Given the description of an element on the screen output the (x, y) to click on. 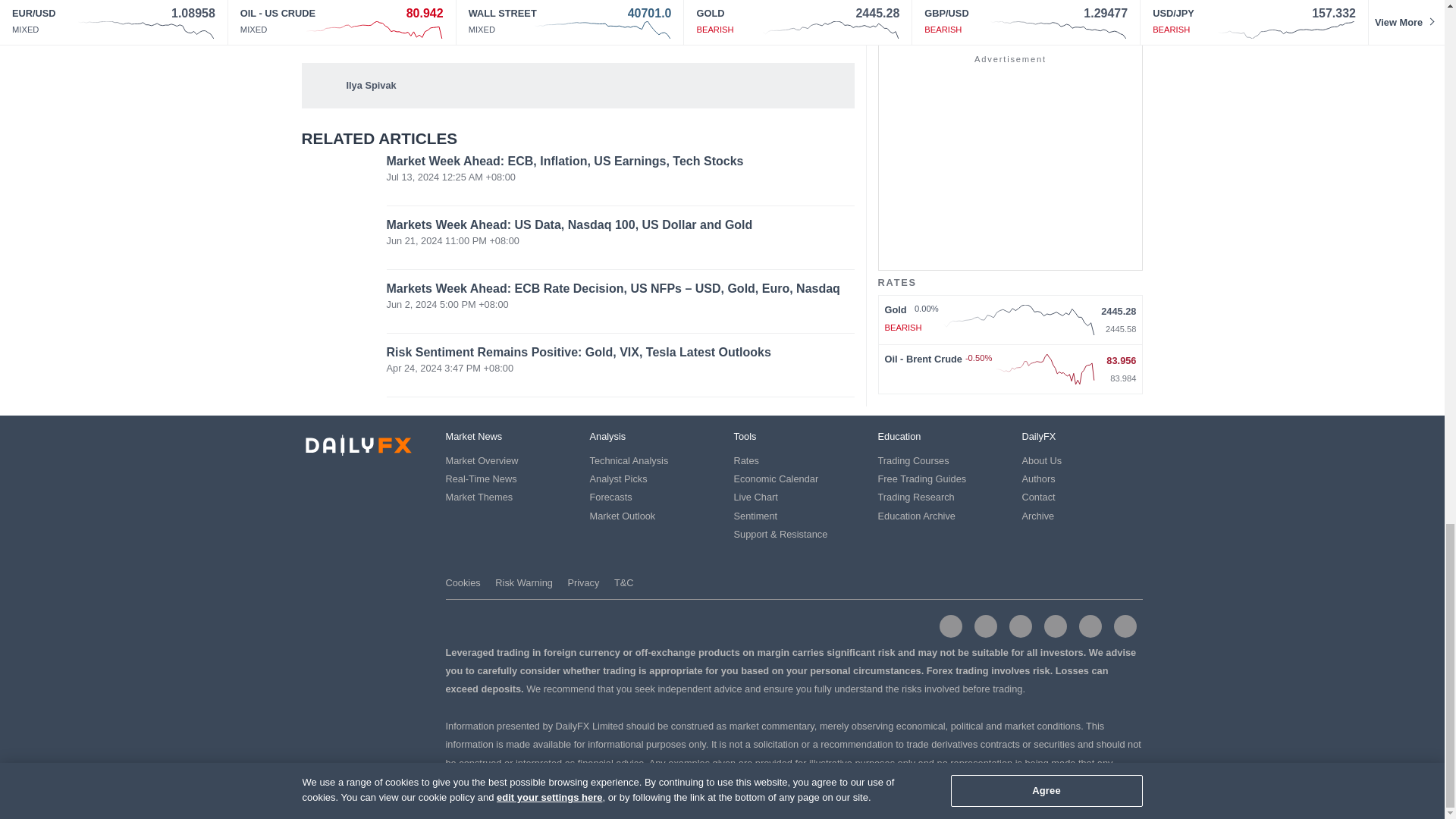
Rates (745, 460)
Market Outlook (622, 515)
Market Overview (481, 460)
Analyst Picks (618, 478)
Market News (473, 436)
Market Themes (479, 496)
Analysis (607, 436)
Forecasts (610, 496)
Live Chart (755, 496)
Real-Time News (480, 478)
Economic Calendar (775, 478)
Technical Analysis (628, 460)
Tools (745, 436)
